Given the description of an element on the screen output the (x, y) to click on. 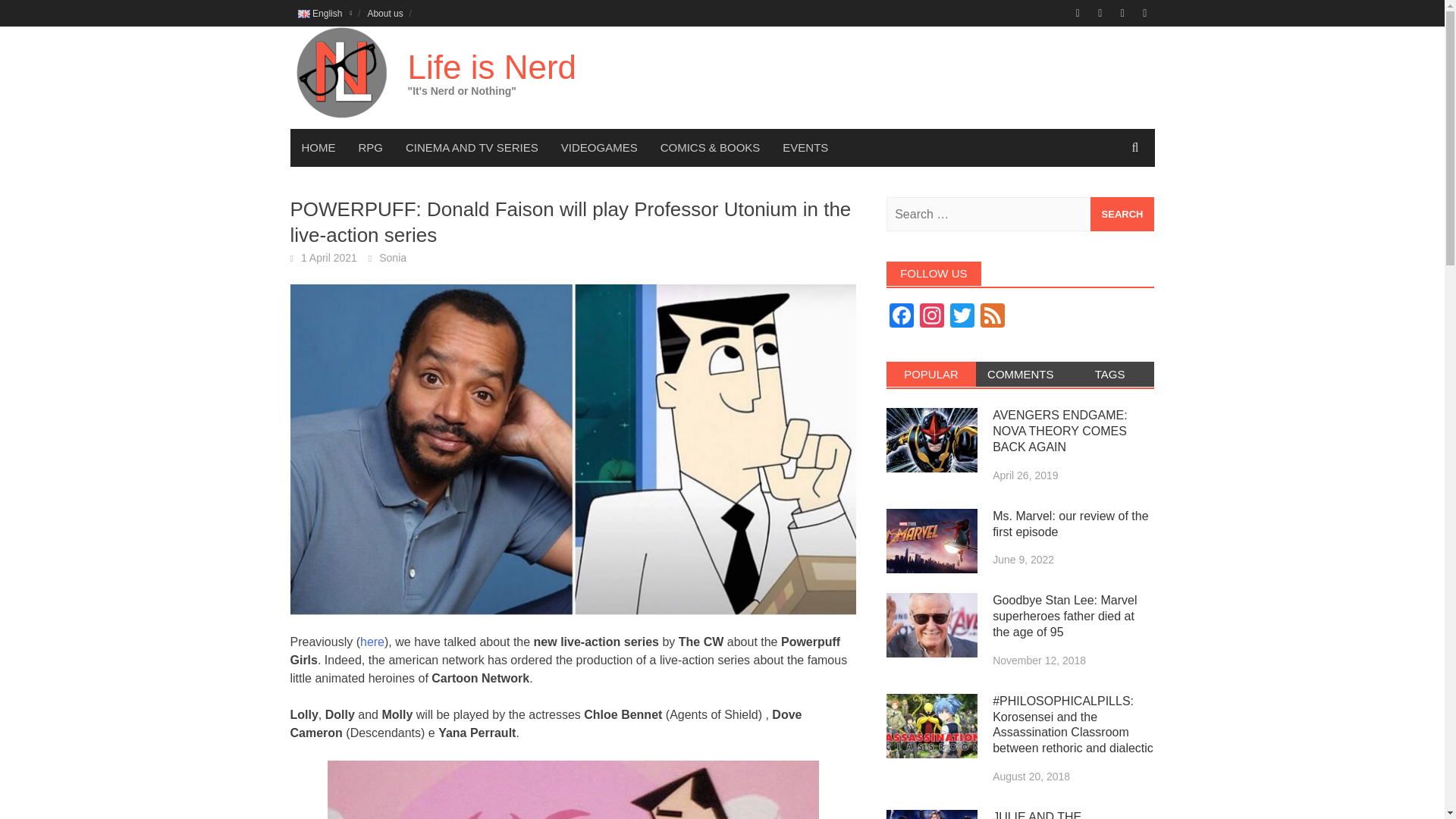
HOME (317, 147)
Facebook (901, 317)
Sonia (392, 257)
Twitter (961, 317)
VIDEOGAMES (599, 147)
Search (1122, 213)
Ms. Marvel: our review of the first episode (931, 540)
1 April 2021 (328, 257)
Search (1122, 213)
RSS Feed (991, 317)
About us (384, 13)
EVENTS (805, 147)
AVENGERS ENDGAME: NOVA THEORY COMES BACK AGAIN (931, 439)
here (371, 641)
Life is Nerd (491, 66)
